Given the description of an element on the screen output the (x, y) to click on. 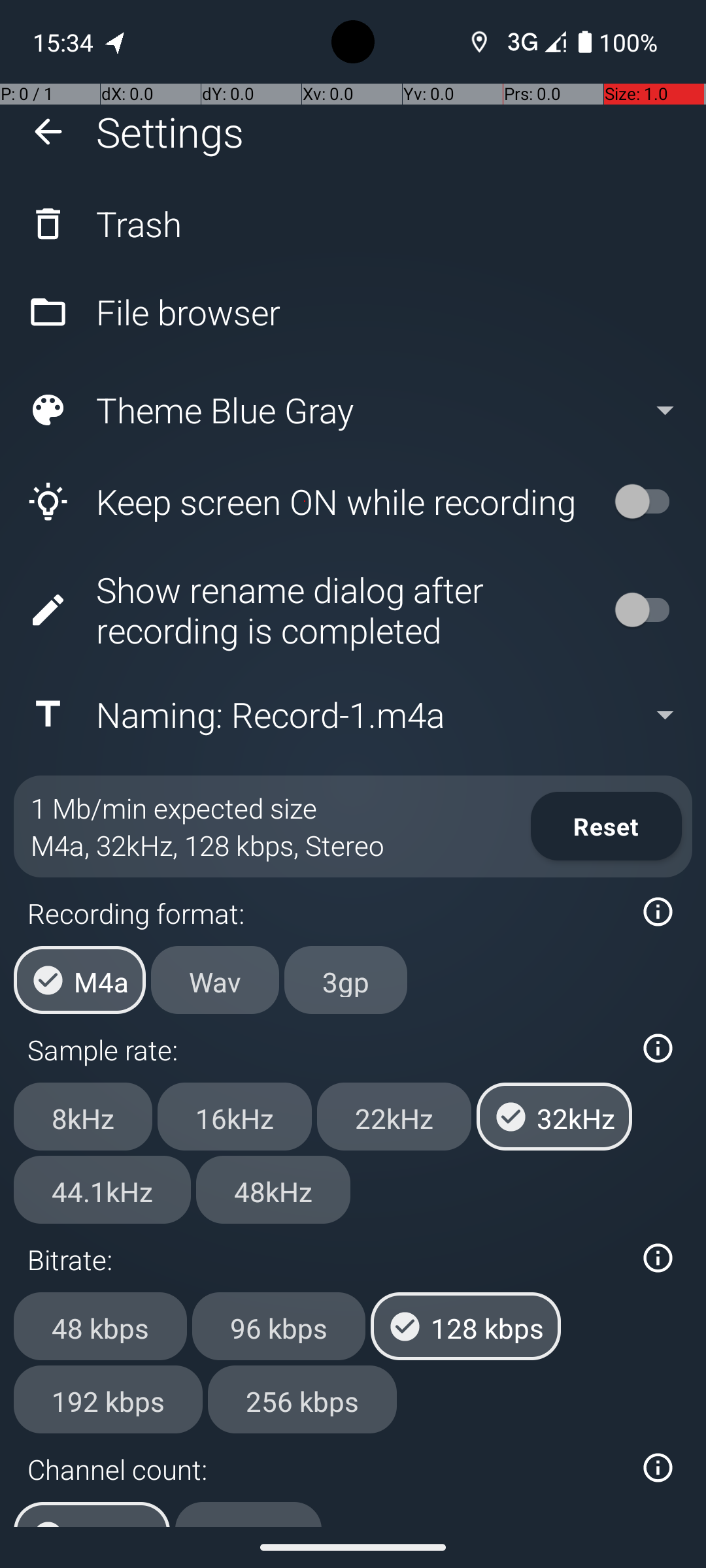
Settings Element type: android.widget.TextView (169, 131)
Trash Element type: android.widget.TextView (353, 223)
File browser Element type: android.widget.TextView (353, 311)
Keep screen ON while recording Element type: android.widget.TextView (304, 501)
Show rename dialog after recording is completed Element type: android.widget.TextView (304, 609)
1 Mb/min expected size Element type: android.widget.TextView (173, 807)
M4a, 32kHz, 128 kbps, Stereo Element type: android.widget.TextView (207, 844)
Reset Element type: android.widget.Button (605, 825)
Recording format: Element type: android.widget.TextView (325, 912)
M4a Element type: android.widget.TextView (79, 979)
Wav Element type: android.widget.TextView (215, 979)
3gp Element type: android.widget.TextView (345, 979)
Sample rate: Element type: android.widget.TextView (325, 1049)
44.1kHz Element type: android.widget.TextView (101, 1189)
32kHz Element type: android.widget.TextView (554, 1116)
16kHz Element type: android.widget.TextView (234, 1116)
22kHz Element type: android.widget.TextView (394, 1116)
48kHz Element type: android.widget.TextView (273, 1189)
8kHz Element type: android.widget.TextView (82, 1116)
Bitrate: Element type: android.widget.TextView (325, 1258)
128 kbps Element type: android.widget.TextView (465, 1326)
192 kbps Element type: android.widget.TextView (107, 1399)
256 kbps Element type: android.widget.TextView (301, 1399)
48 kbps Element type: android.widget.TextView (99, 1326)
96 kbps Element type: android.widget.TextView (278, 1326)
Channel count: Element type: android.widget.TextView (325, 1468)
Stereo Element type: android.widget.TextView (91, 1514)
Mono Element type: android.widget.TextView (248, 1514)
Theme Blue Gray Element type: android.widget.TextView (352, 409)
Naming: Record-1.m4a Element type: android.widget.TextView (352, 714)
OpenTracks notification: Distance: 0.00 ft Element type: android.widget.ImageView (115, 41)
Location requests active Element type: android.widget.ImageView (479, 41)
Phone two bars. Element type: android.widget.FrameLayout (534, 41)
